Given the description of an element on the screen output the (x, y) to click on. 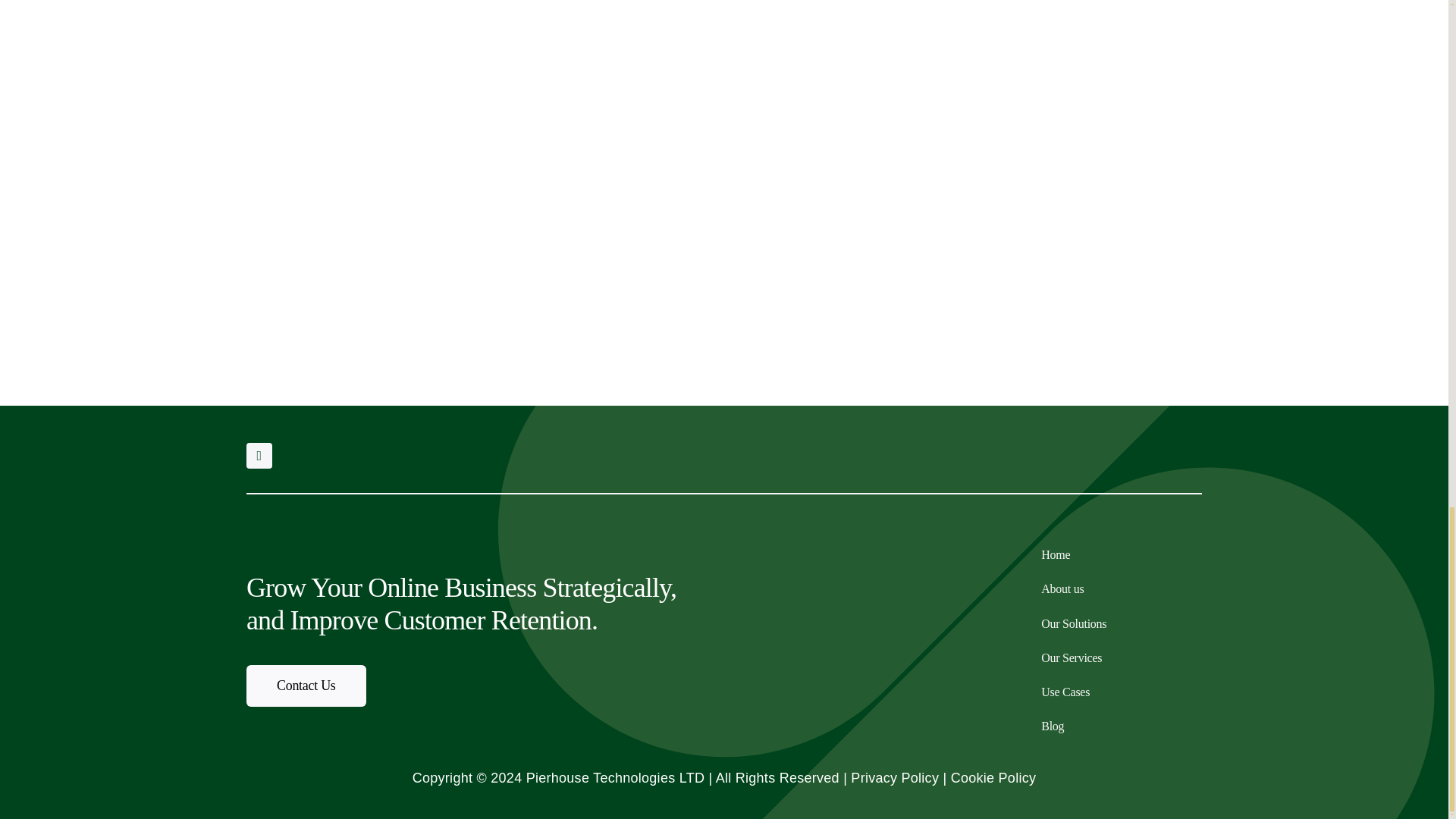
Contact Us (306, 684)
Our Solutions (1121, 624)
About us (1121, 589)
LinkedIn (259, 455)
Home (1121, 555)
